Given the description of an element on the screen output the (x, y) to click on. 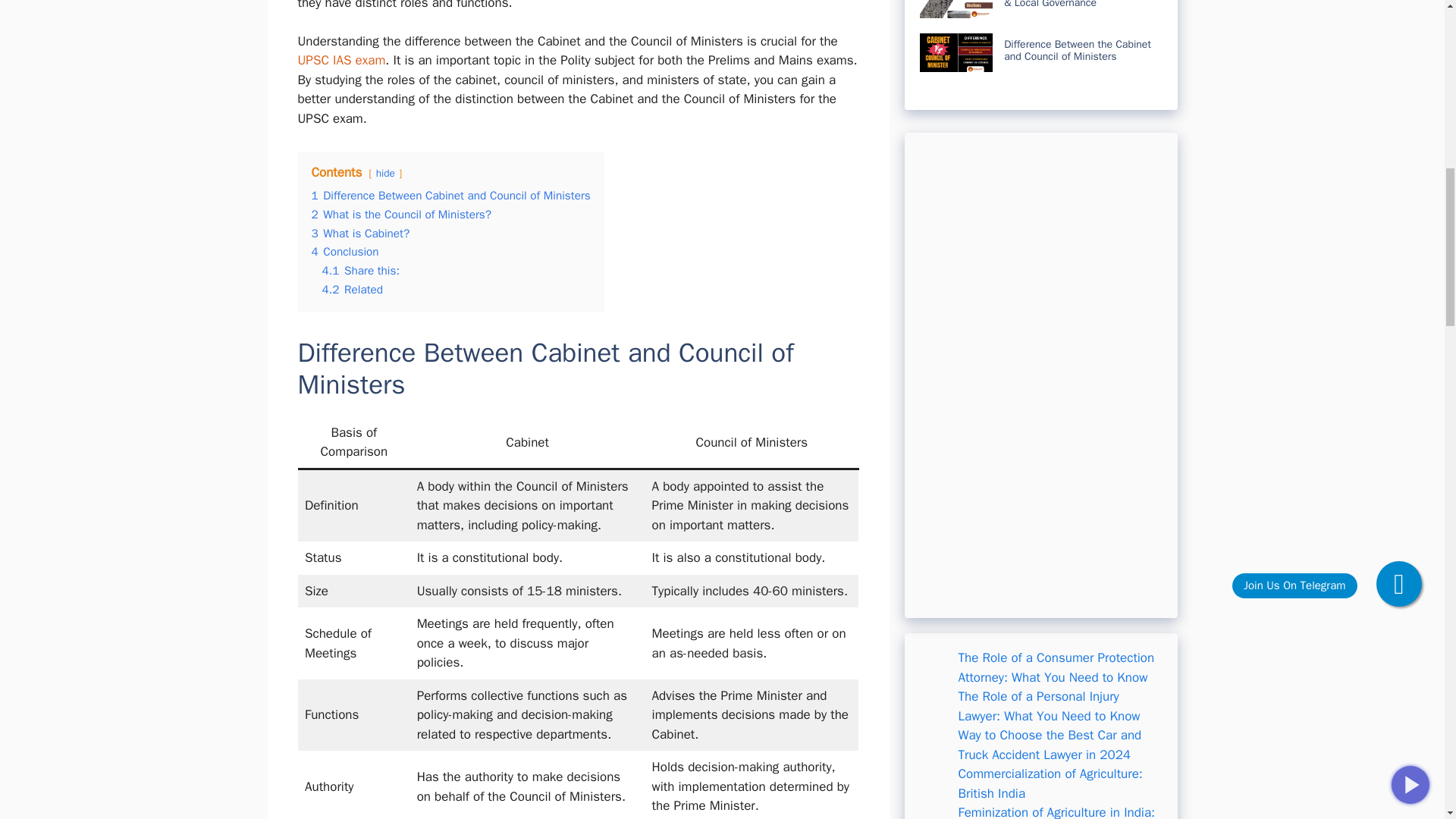
2 What is the Council of Ministers? (401, 214)
UPSC IAS exam (341, 59)
1 Difference Between Cabinet and Council of Ministers (450, 195)
4.2 Related (351, 289)
4.1 Share this: (359, 270)
3 What is Cabinet? (360, 233)
hide (384, 173)
4 Conclusion (344, 251)
